Given the description of an element on the screen output the (x, y) to click on. 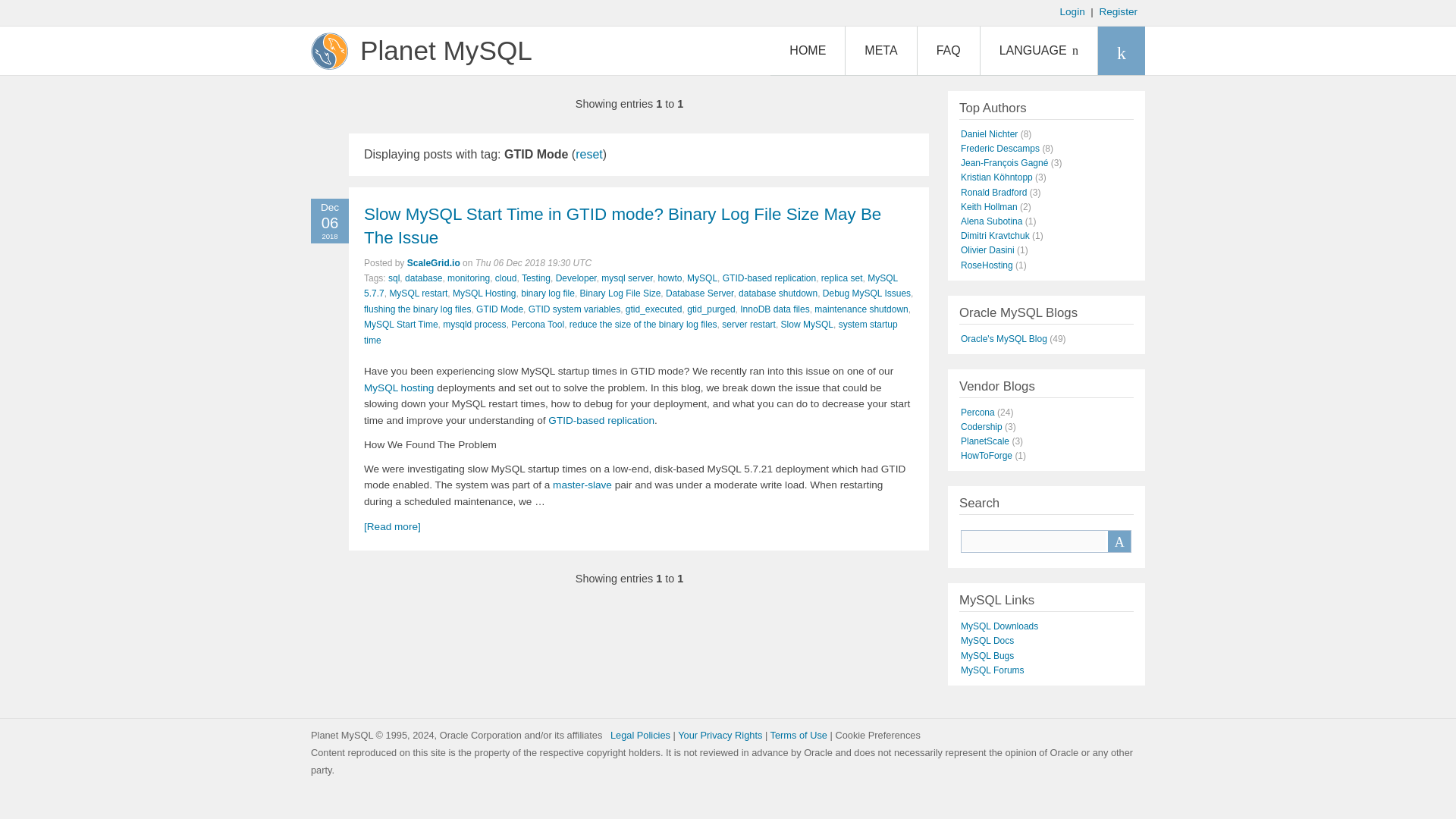
Developer (576, 277)
MySQL restart (417, 293)
MySQL (702, 277)
HOME (807, 50)
GTID-based replication (768, 277)
mysql server (626, 277)
monitoring (467, 277)
Aggregate feed (1120, 50)
META (880, 50)
MySQL 5.7.7 (631, 285)
MySQL Hosting (484, 293)
reset (588, 154)
LANGUAGE (1038, 50)
Database Server (699, 293)
